Given the description of an element on the screen output the (x, y) to click on. 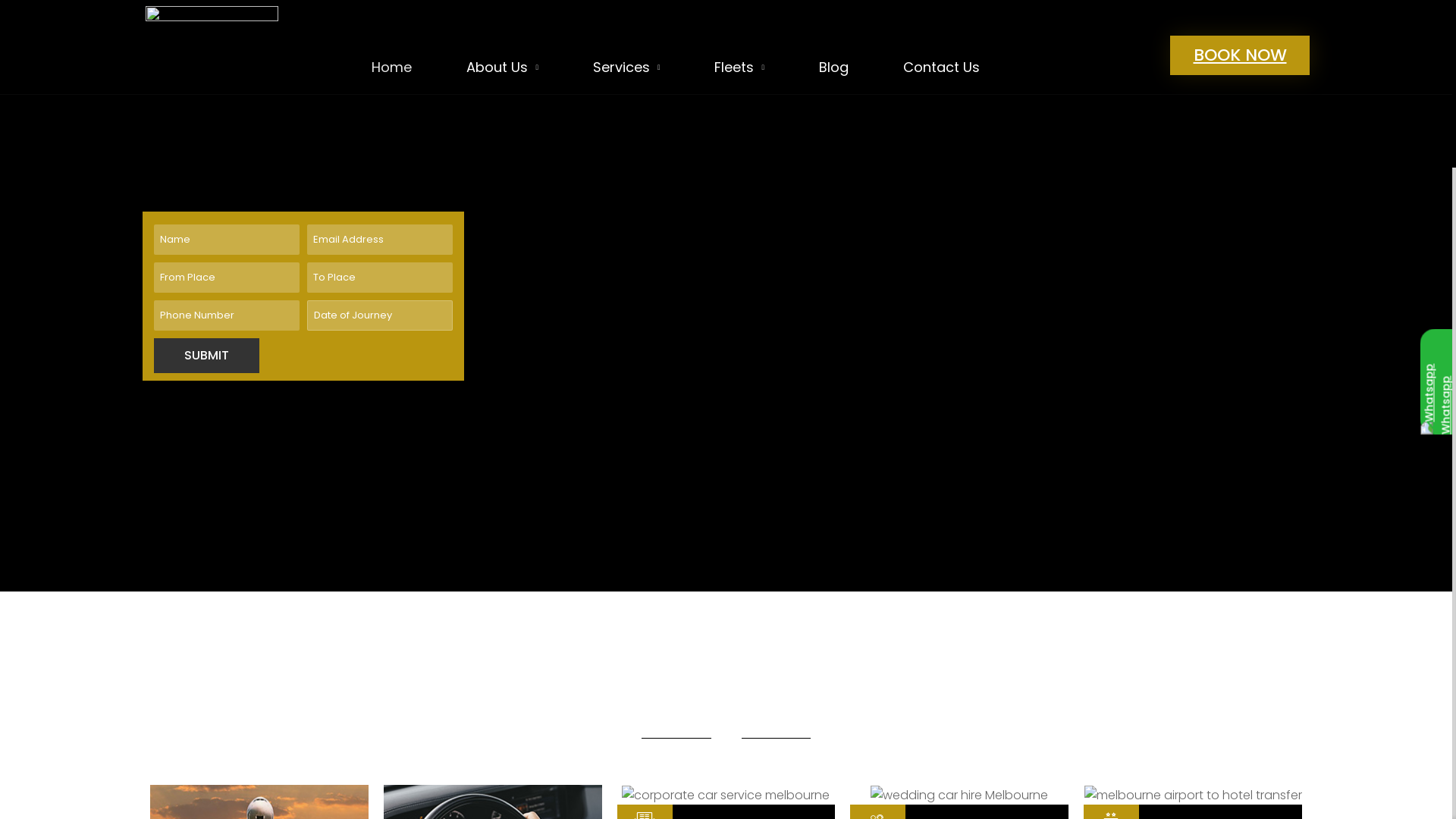
Home Element type: text (391, 67)
Services Element type: text (626, 67)
Fleets Element type: text (739, 67)
0429190927 Element type: text (1112, 45)
BOOK NOW Element type: text (1239, 55)
About Us Element type: text (502, 67)
Contact Us Element type: text (941, 67)
Submit Element type: text (206, 355)
1300 798 560 Element type: text (1112, 64)
Blog Element type: text (833, 67)
